Given the description of an element on the screen output the (x, y) to click on. 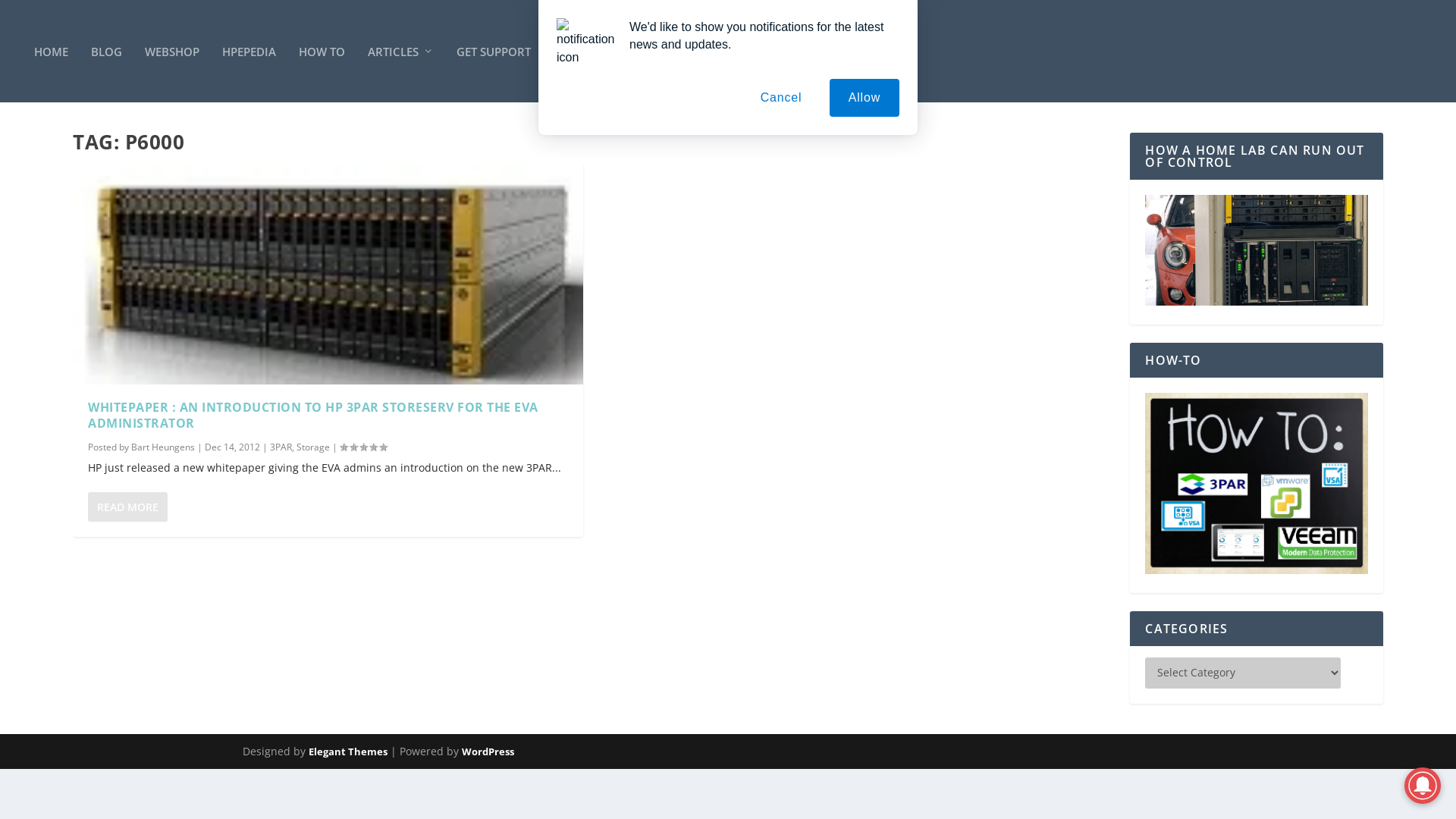
ARTICLES Element type: text (400, 51)
READ MORE Element type: text (127, 506)
Storage Element type: text (312, 446)
Elegant Themes Element type: text (347, 751)
WordPress Element type: text (487, 751)
Cancel Element type: text (781, 97)
Allow Element type: text (864, 97)
Bart Heungens Element type: text (162, 446)
GET SUPPORT Element type: text (493, 51)
BLOG Element type: text (106, 51)
HPEPEDIA Element type: text (249, 51)
3PAR Element type: text (280, 446)
Rating: 0.00 Element type: hover (362, 447)
HOW TO Element type: text (321, 51)
CONTACT US Element type: text (588, 51)
WEBSHOP Element type: text (171, 51)
HOME Element type: text (51, 51)
